Given the description of an element on the screen output the (x, y) to click on. 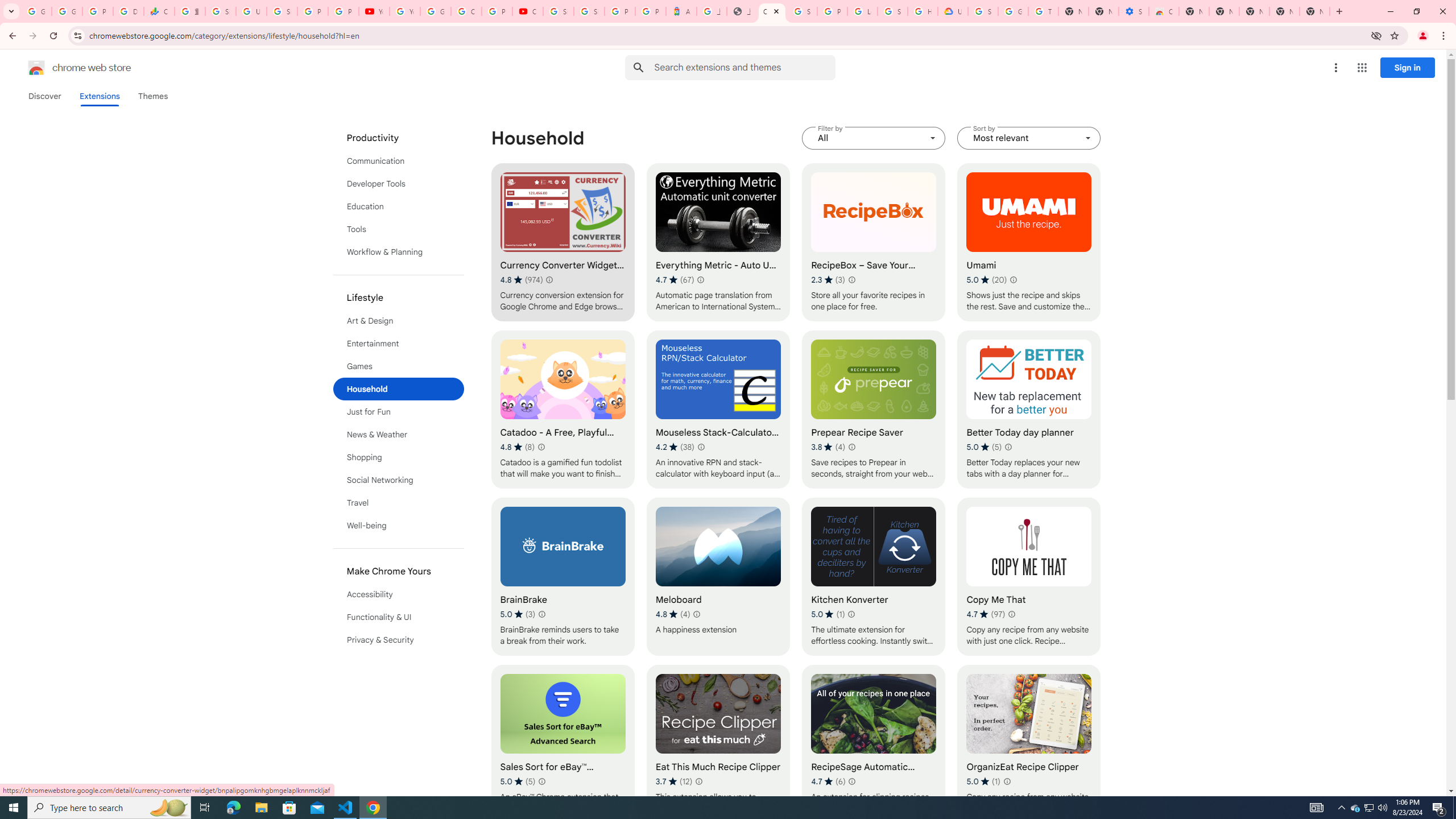
Better Today day planner (1028, 409)
Education (398, 205)
Average rating 4.7 out of 5 stars. 67 ratings. (674, 279)
Sign in - Google Accounts (982, 11)
Create your Google Account (465, 11)
Currencies - Google Finance (158, 11)
More options menu (1335, 67)
Learn more about results and reviews "Umami" (1013, 279)
Tools (398, 228)
Average rating 4.8 out of 5 stars. 974 ratings. (521, 279)
Extensions (99, 95)
